Given the description of an element on the screen output the (x, y) to click on. 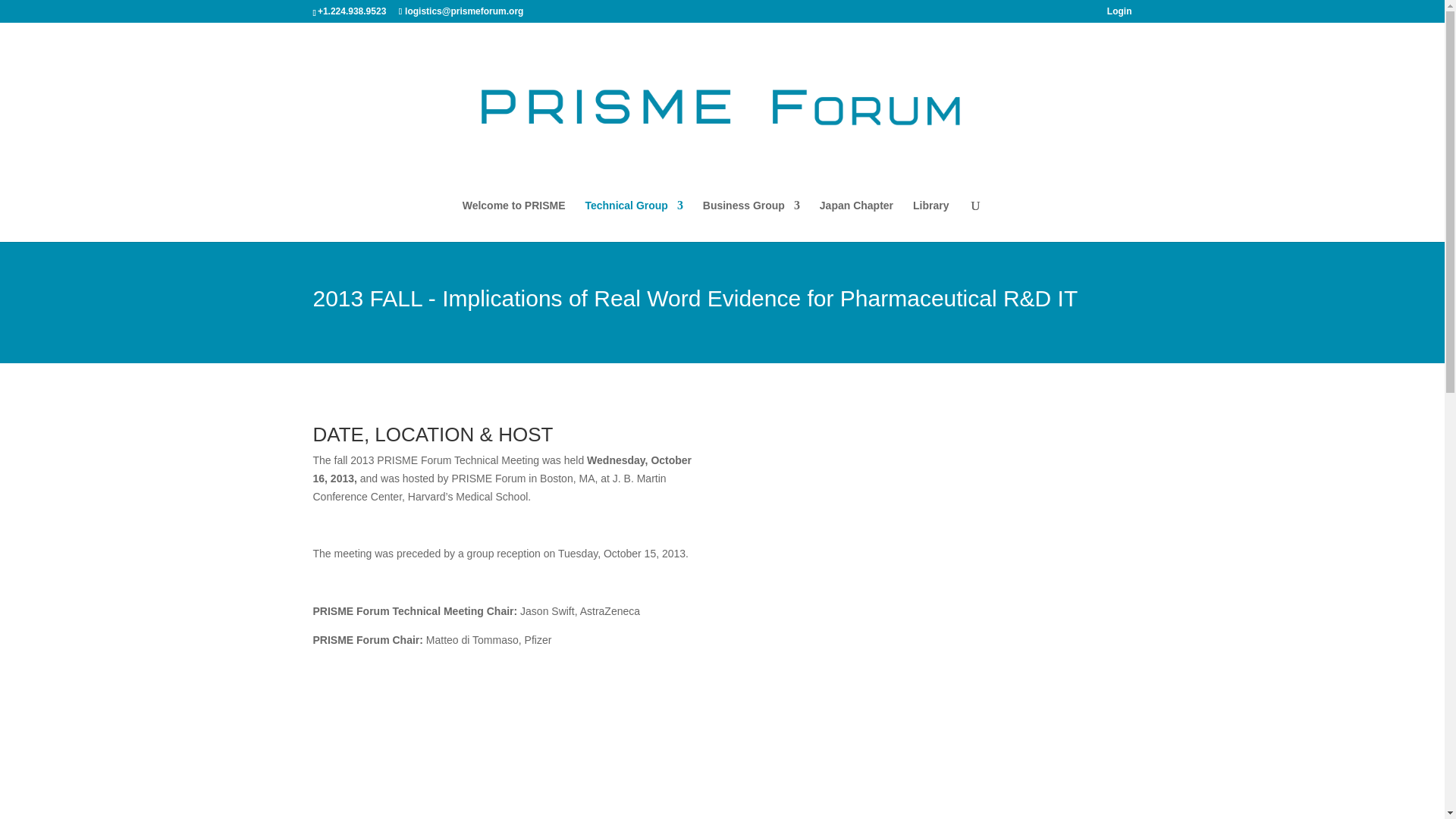
Welcome to PRISME (514, 220)
Login (1119, 14)
Business Group (751, 220)
Technical Group (633, 220)
